Given the description of an element on the screen output the (x, y) to click on. 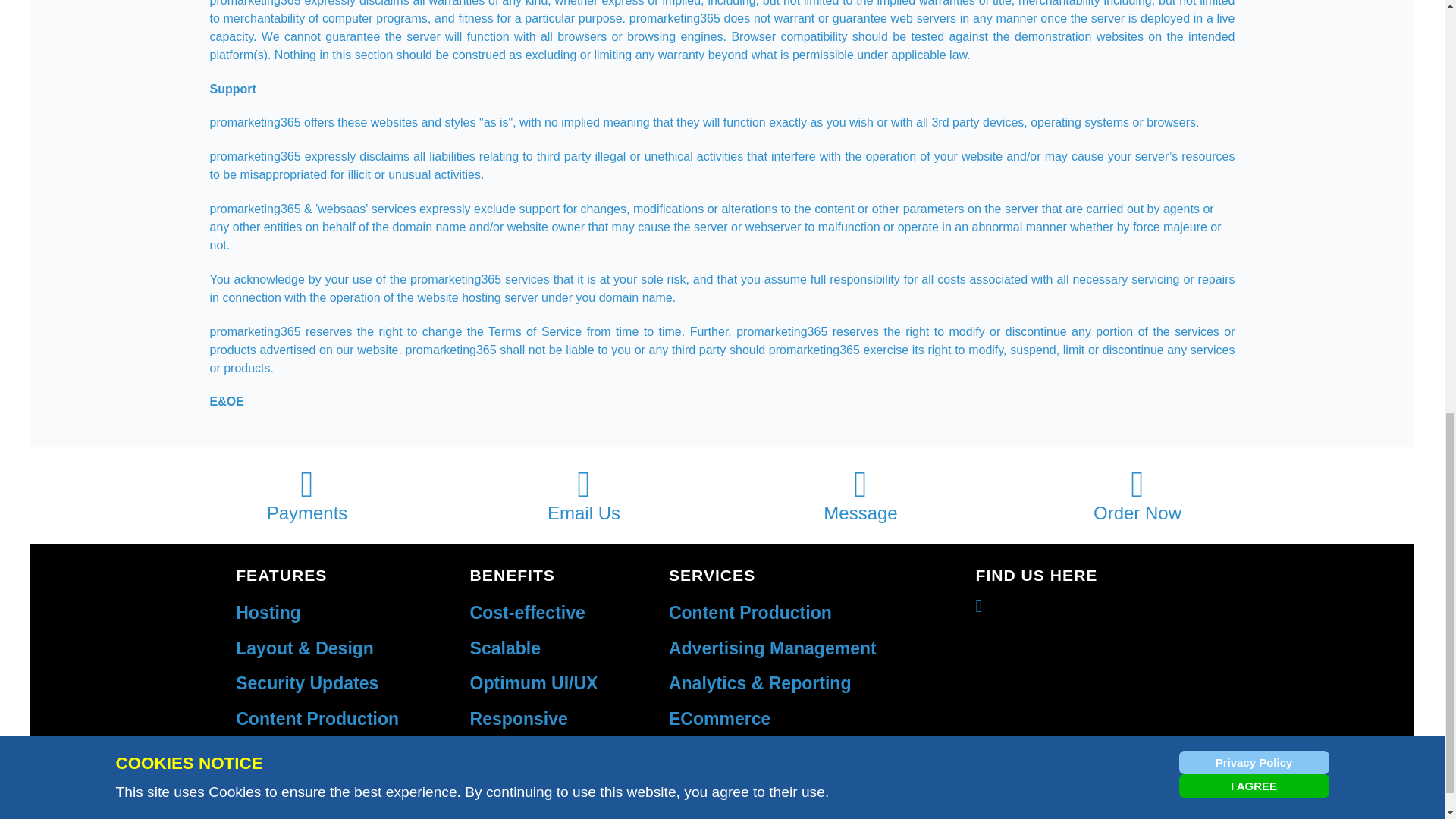
Content Production (749, 612)
Responsive (518, 718)
Payments (306, 494)
Order Now (1137, 494)
Cross Platform (532, 753)
Cost-effective (527, 612)
ECommerce (719, 718)
Security Updates (306, 682)
Scalable (505, 647)
Message (860, 494)
